Given the description of an element on the screen output the (x, y) to click on. 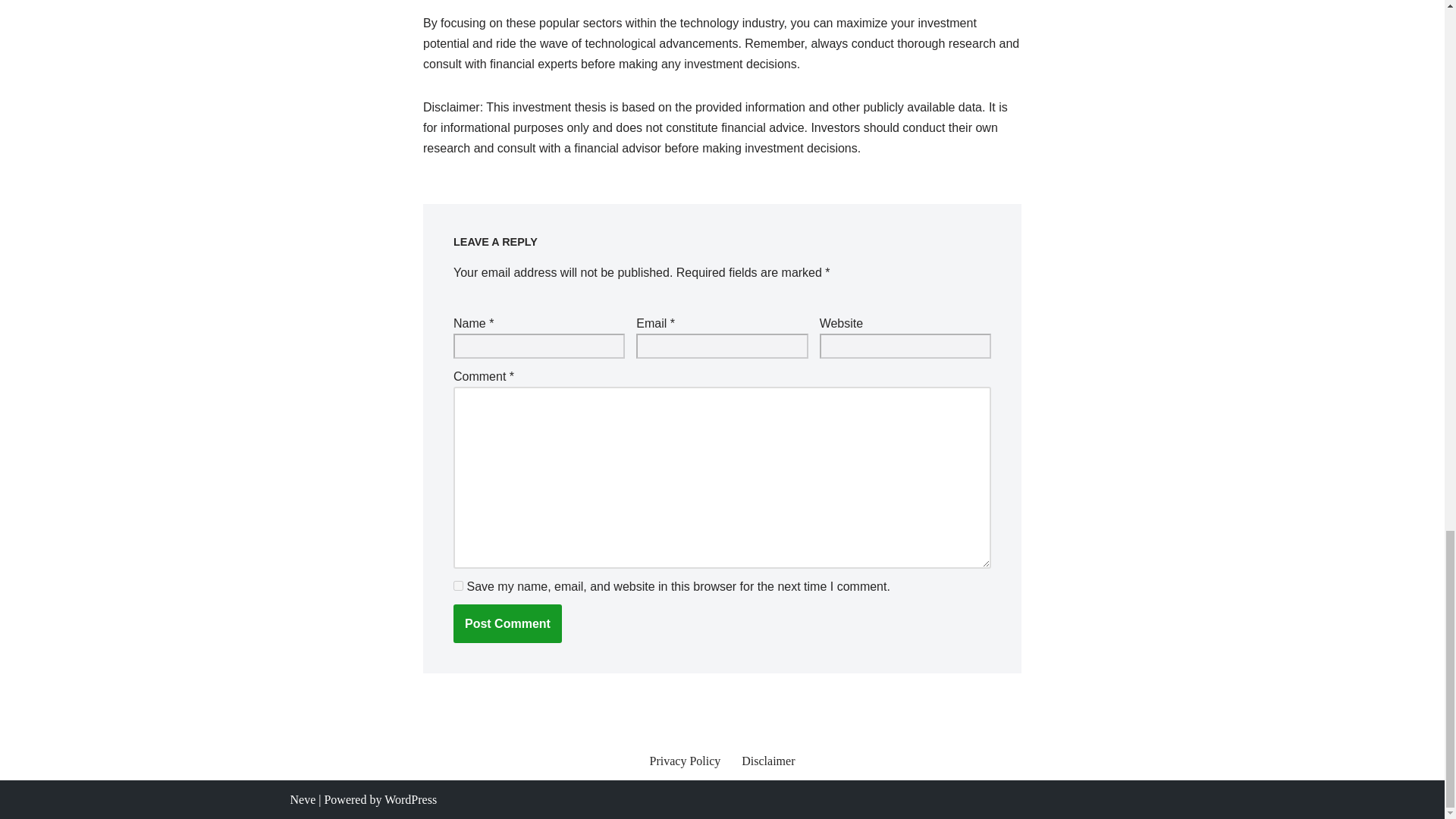
Post Comment (507, 623)
Privacy Policy (684, 761)
Neve (302, 799)
Disclaimer (767, 761)
yes (457, 585)
Post Comment (507, 623)
WordPress (410, 799)
